Given the description of an element on the screen output the (x, y) to click on. 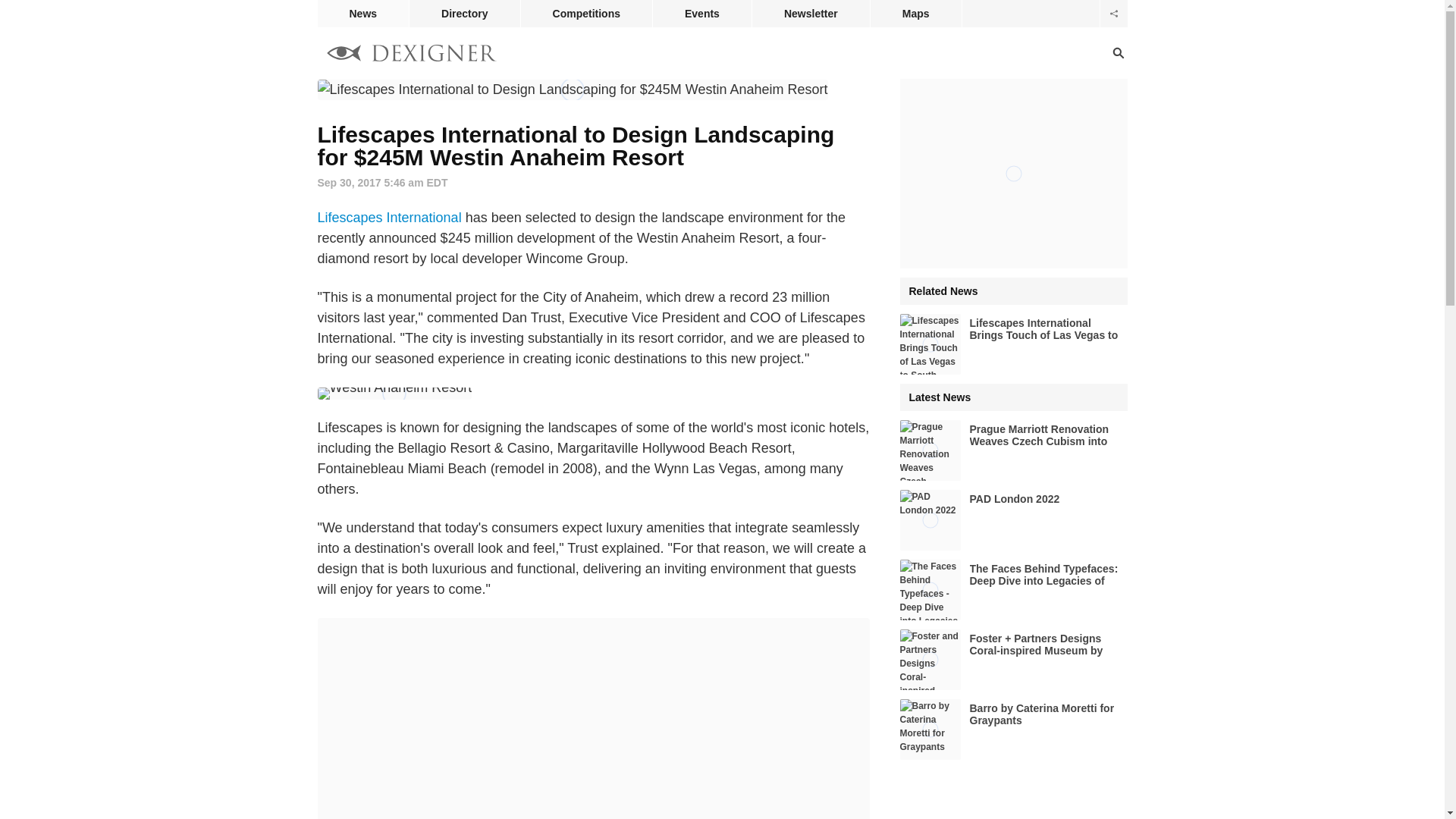
Directory (464, 13)
Competitions (586, 13)
Dexigner (411, 54)
Lifescapes International (389, 217)
Newsletter (810, 13)
Events (701, 13)
News (363, 13)
